Given the description of an element on the screen output the (x, y) to click on. 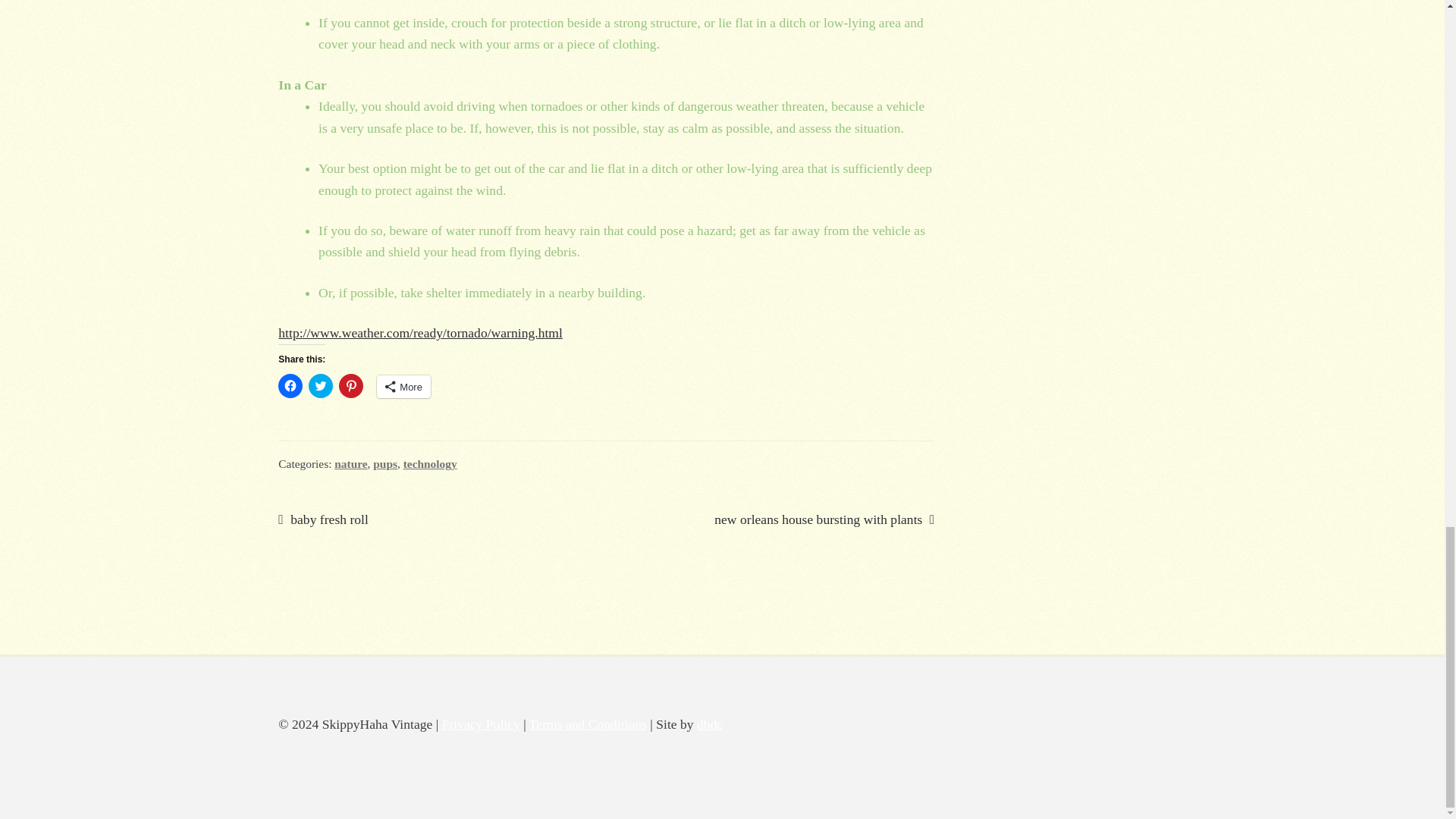
Click to share on Twitter (320, 385)
Click to share on Facebook (290, 385)
nature (350, 463)
Click to share on Pinterest (350, 385)
More (403, 386)
pups (384, 463)
technology (430, 463)
